Given the description of an element on the screen output the (x, y) to click on. 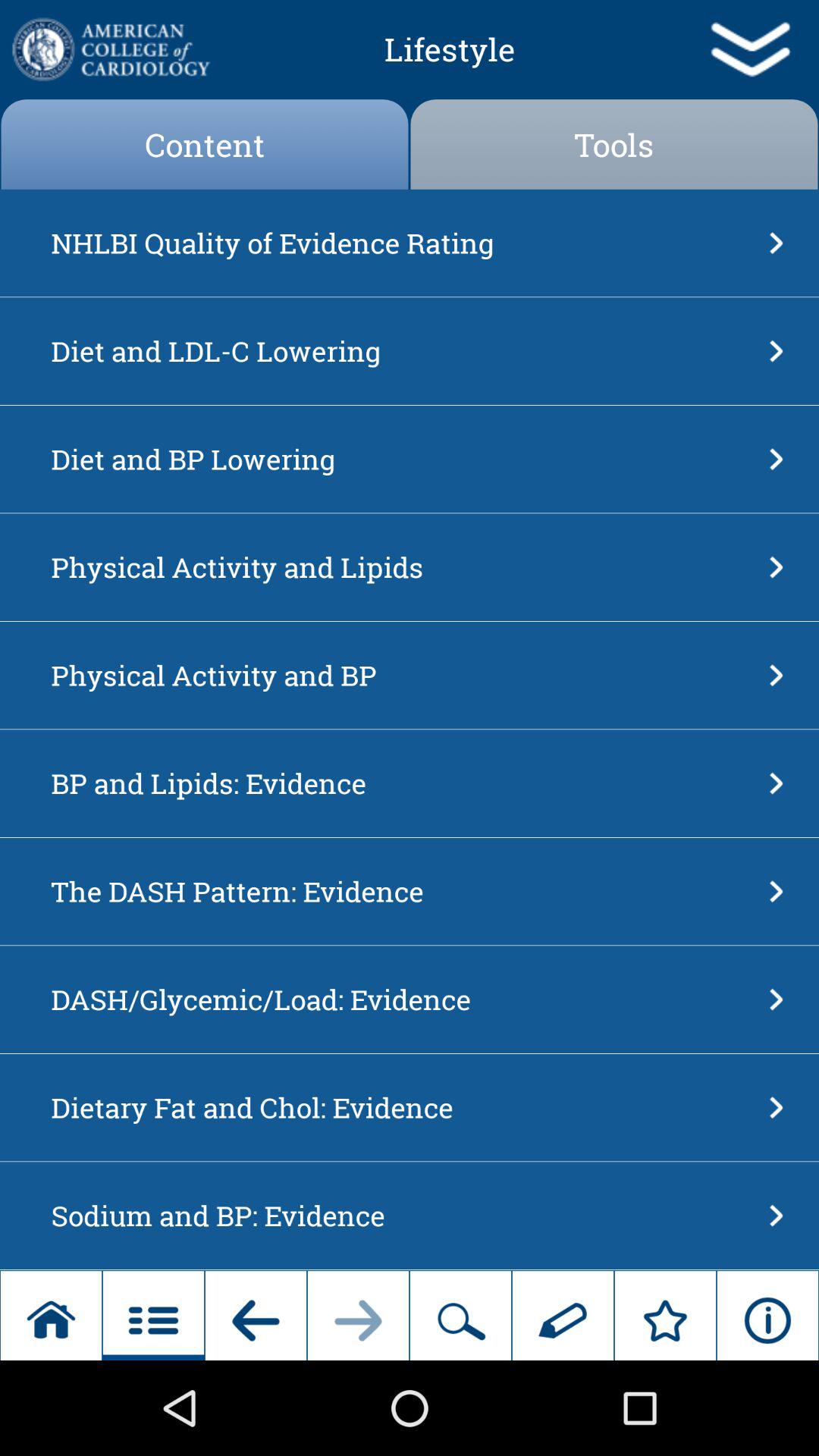
collapse menu (749, 49)
